Given the description of an element on the screen output the (x, y) to click on. 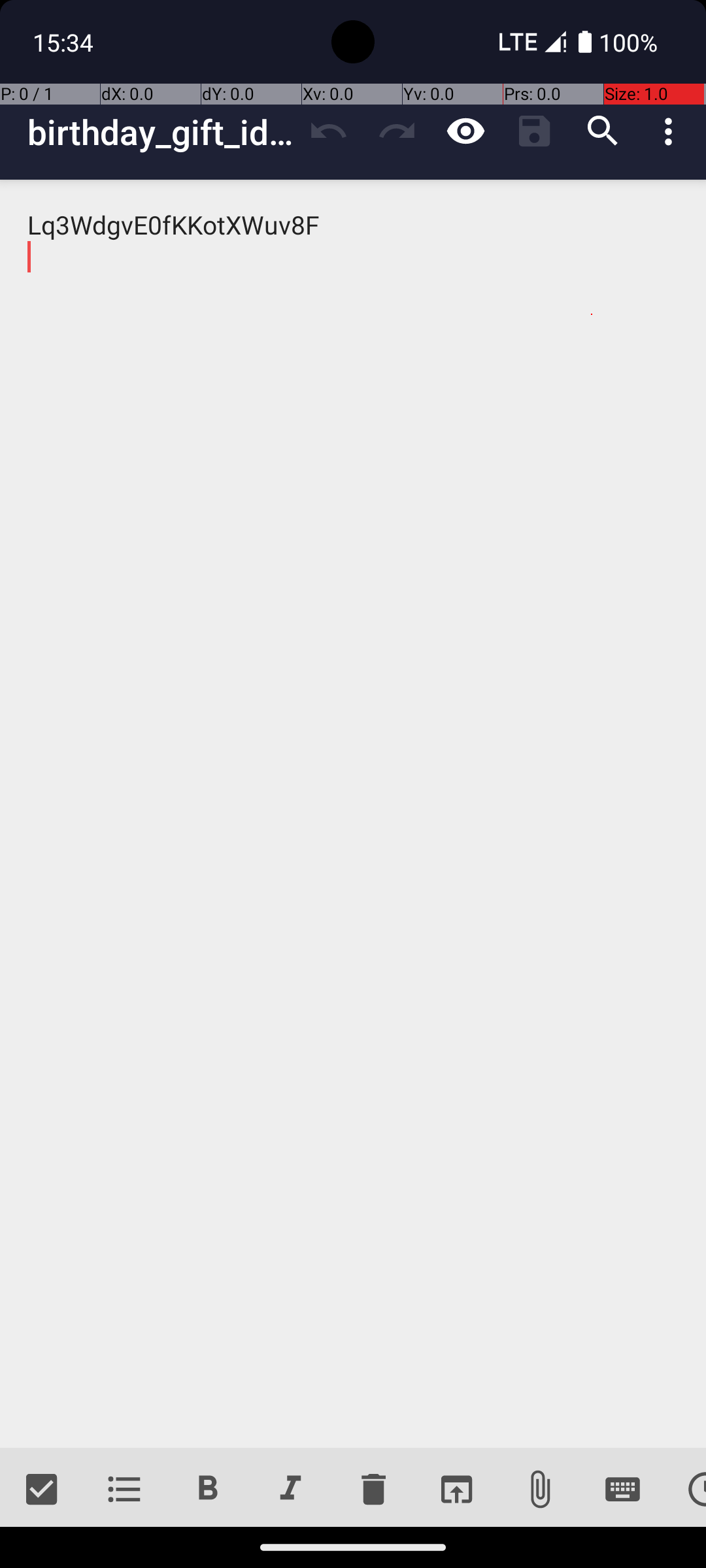
birthday_gift_ideas_mom_rPuG Element type: android.widget.TextView (160, 131)
Lq3WdgvE0fKKotXWuv8F
 Element type: android.widget.EditText (353, 813)
